Given the description of an element on the screen output the (x, y) to click on. 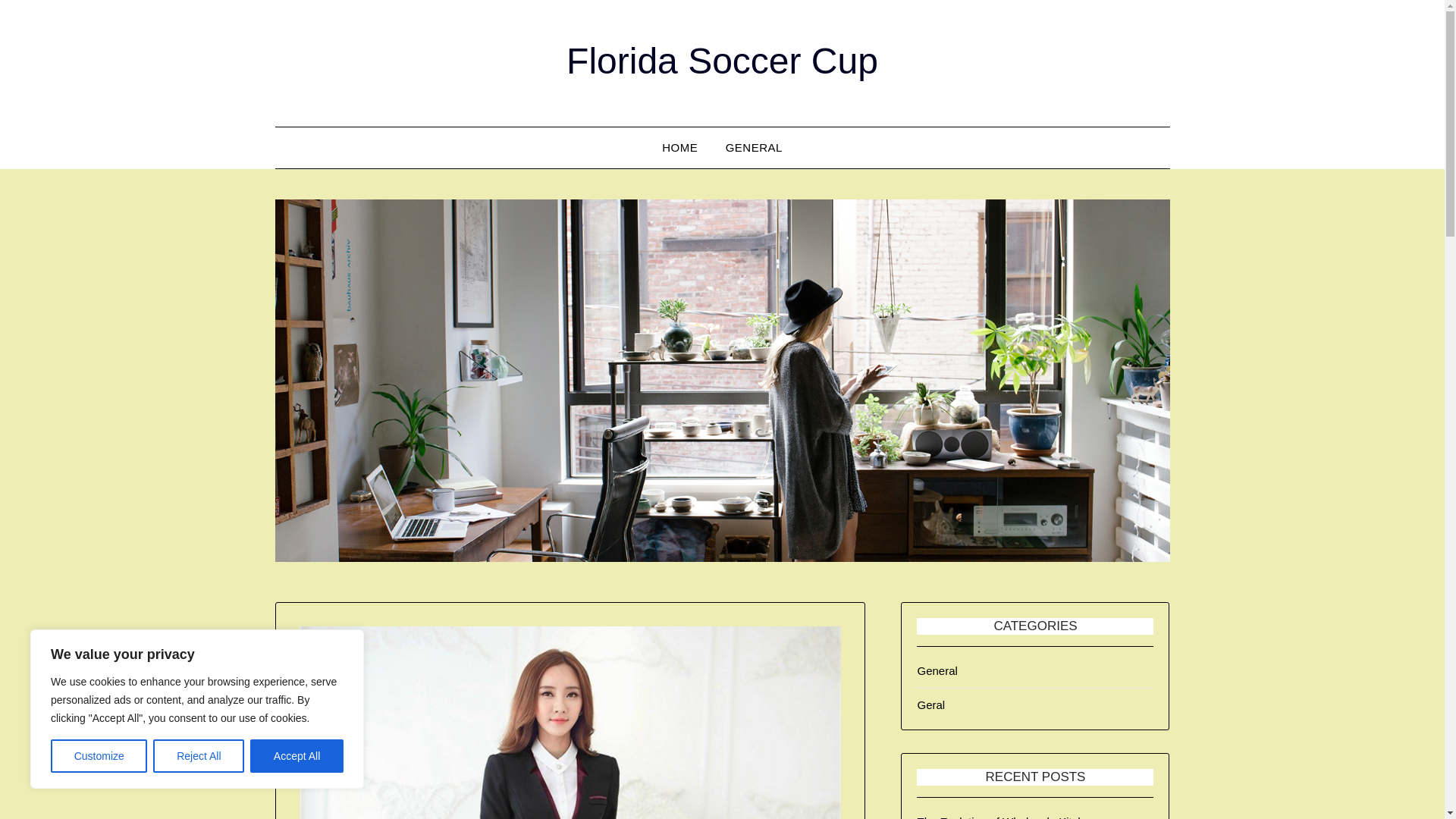
Florida Soccer Cup (721, 60)
Accept All (296, 756)
GENERAL (753, 147)
General (936, 670)
Customize (98, 756)
Geral (930, 704)
The Evolution of Wholesale Kitchen Equipment (1006, 816)
Reject All (198, 756)
HOME (679, 147)
